Given the description of an element on the screen output the (x, y) to click on. 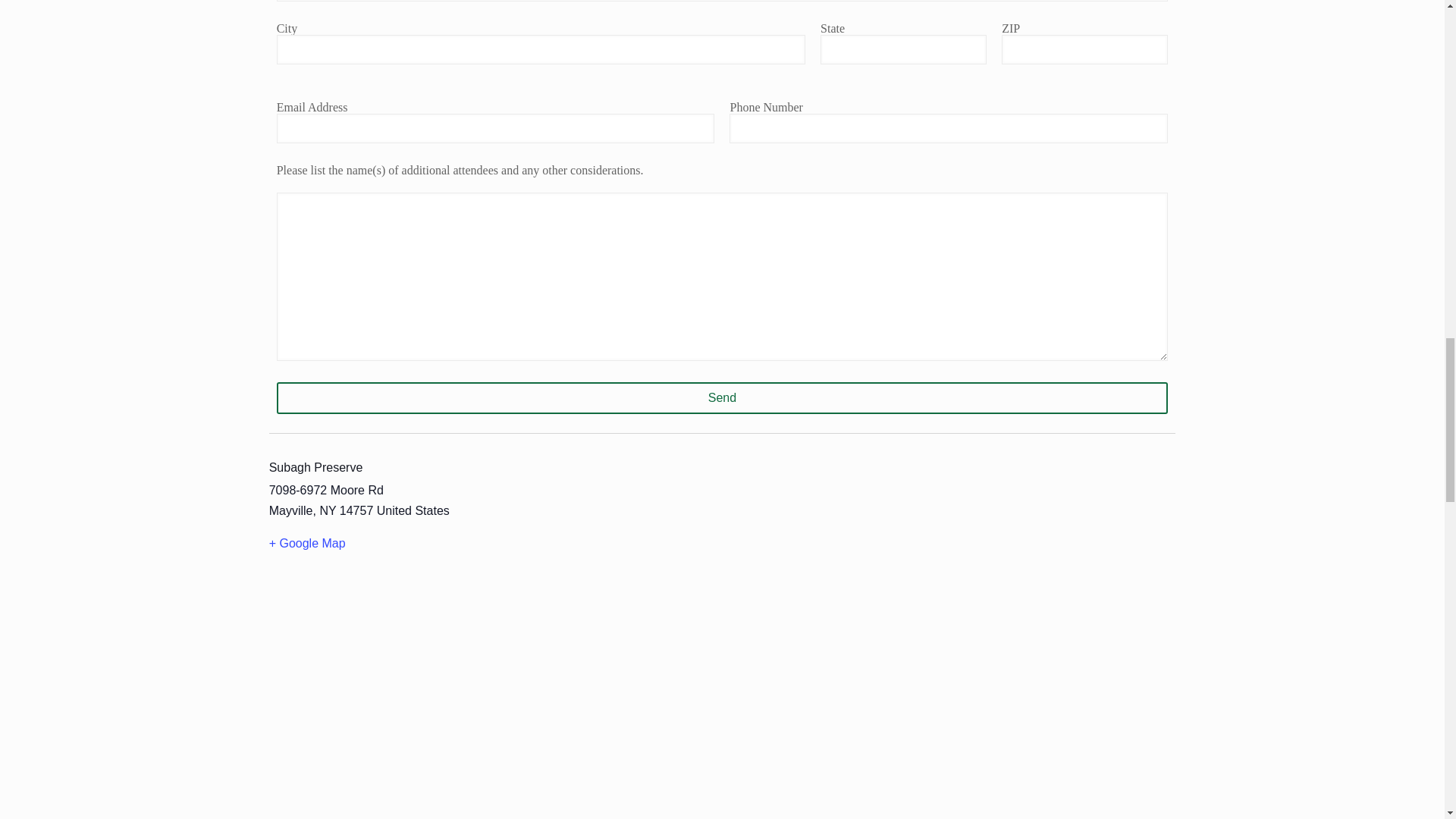
New York (327, 510)
Click to view a Google Map (427, 543)
Send (722, 398)
